Given the description of an element on the screen output the (x, y) to click on. 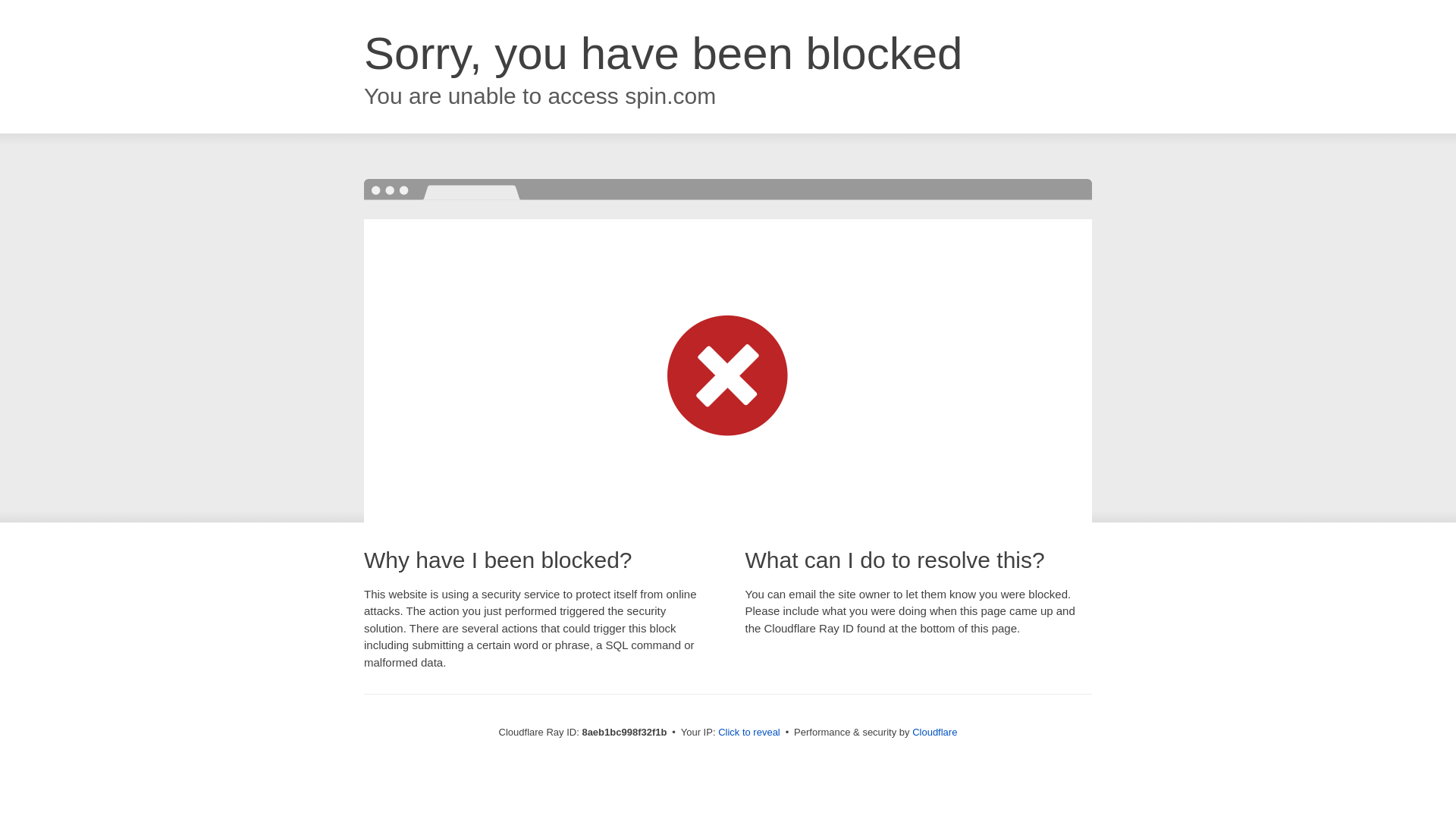
Cloudflare (934, 731)
Click to reveal (748, 732)
